Given the description of an element on the screen output the (x, y) to click on. 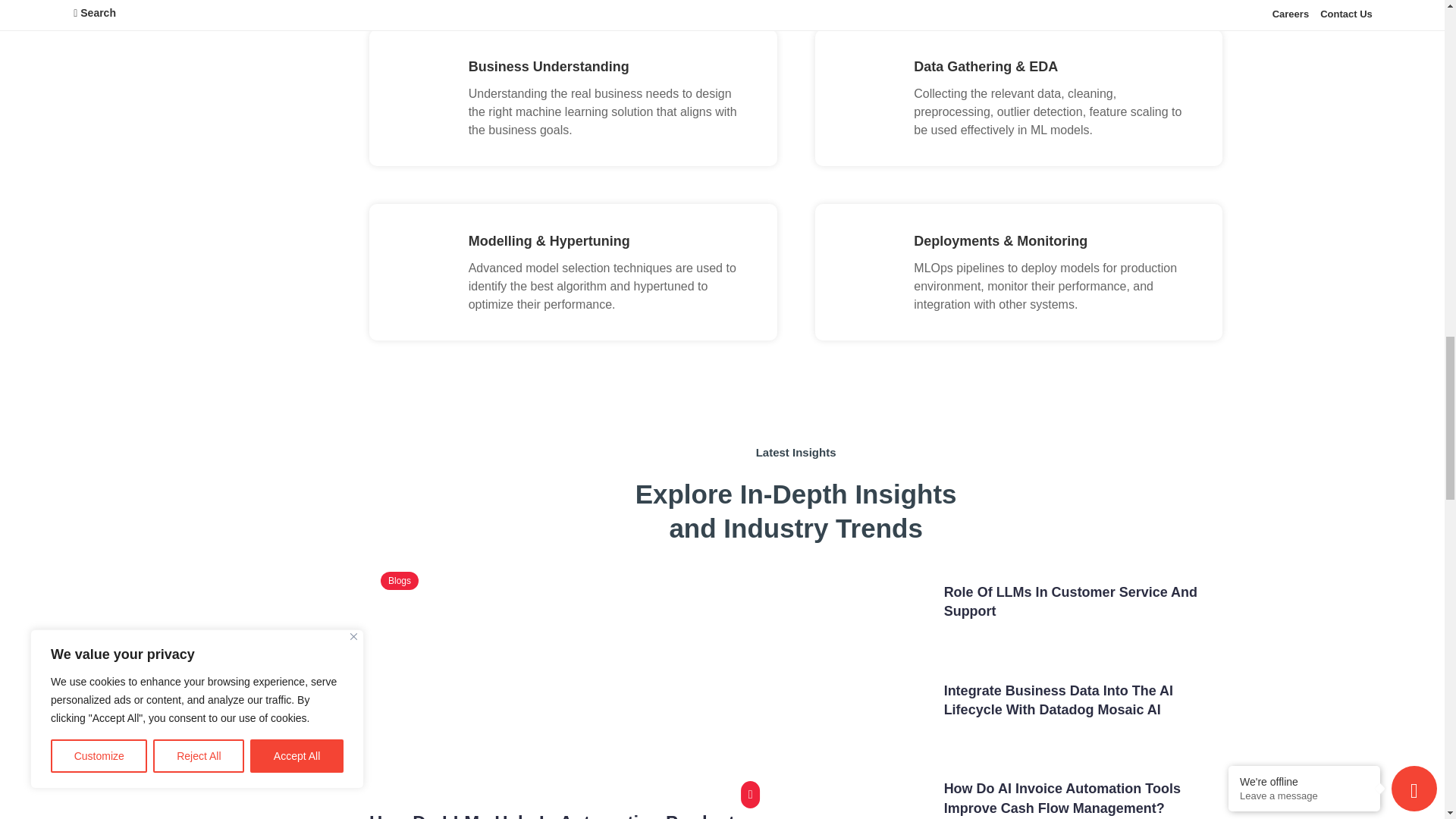
Role Of LLMs In Customer Service And Support (1069, 601)
How Do LLMs Help In Automating Product Review Summarization? (552, 815)
